Given the description of an element on the screen output the (x, y) to click on. 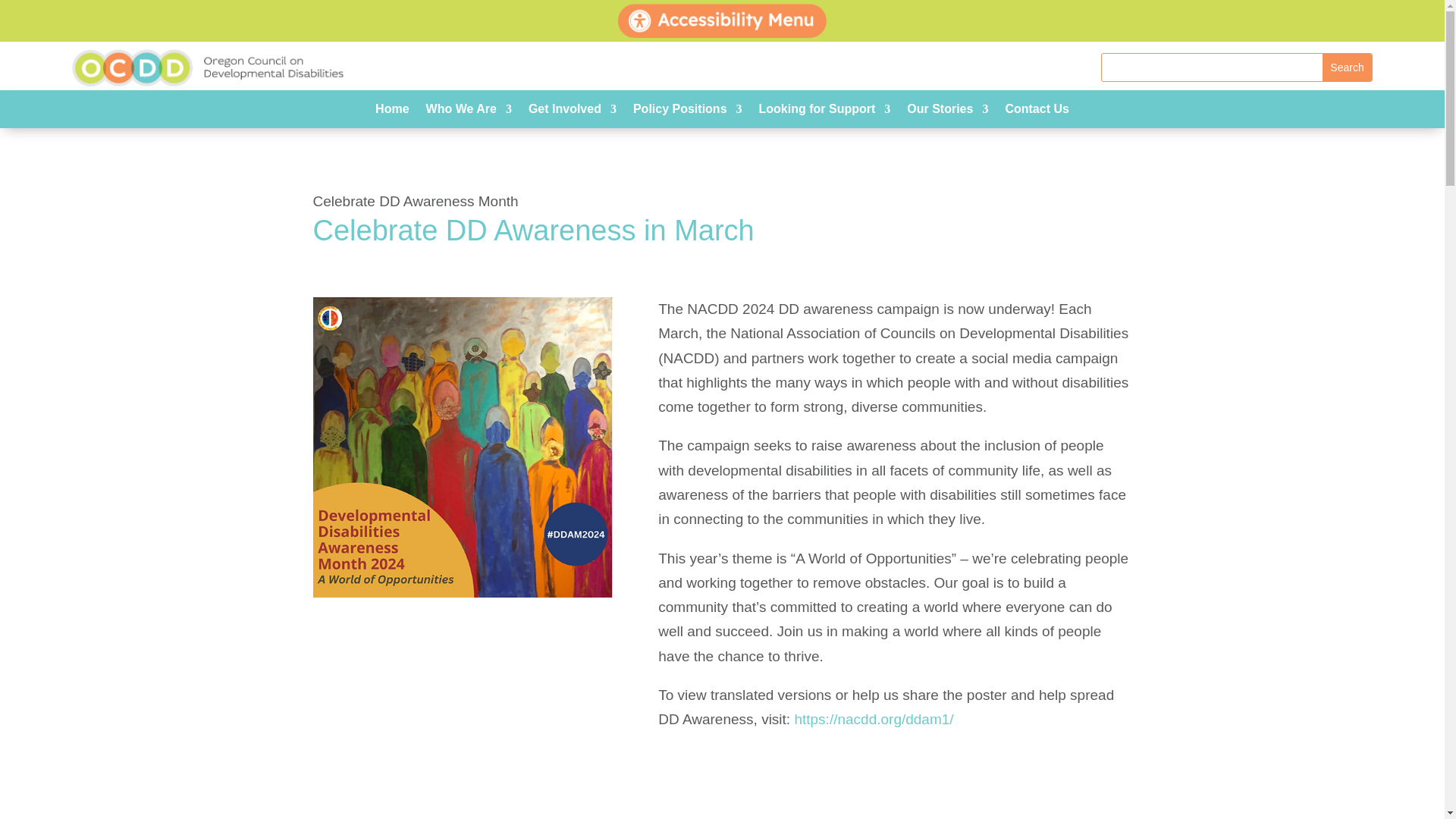
Looking for Support (824, 112)
Home (392, 112)
Policy Positions (687, 112)
Search (1346, 67)
NACDD-DDAM-Poster-2024 (462, 447)
Search (1346, 67)
Search (1346, 67)
Get Involved (571, 112)
Our Stories (947, 112)
Who We Are (469, 112)
